Given the description of an element on the screen output the (x, y) to click on. 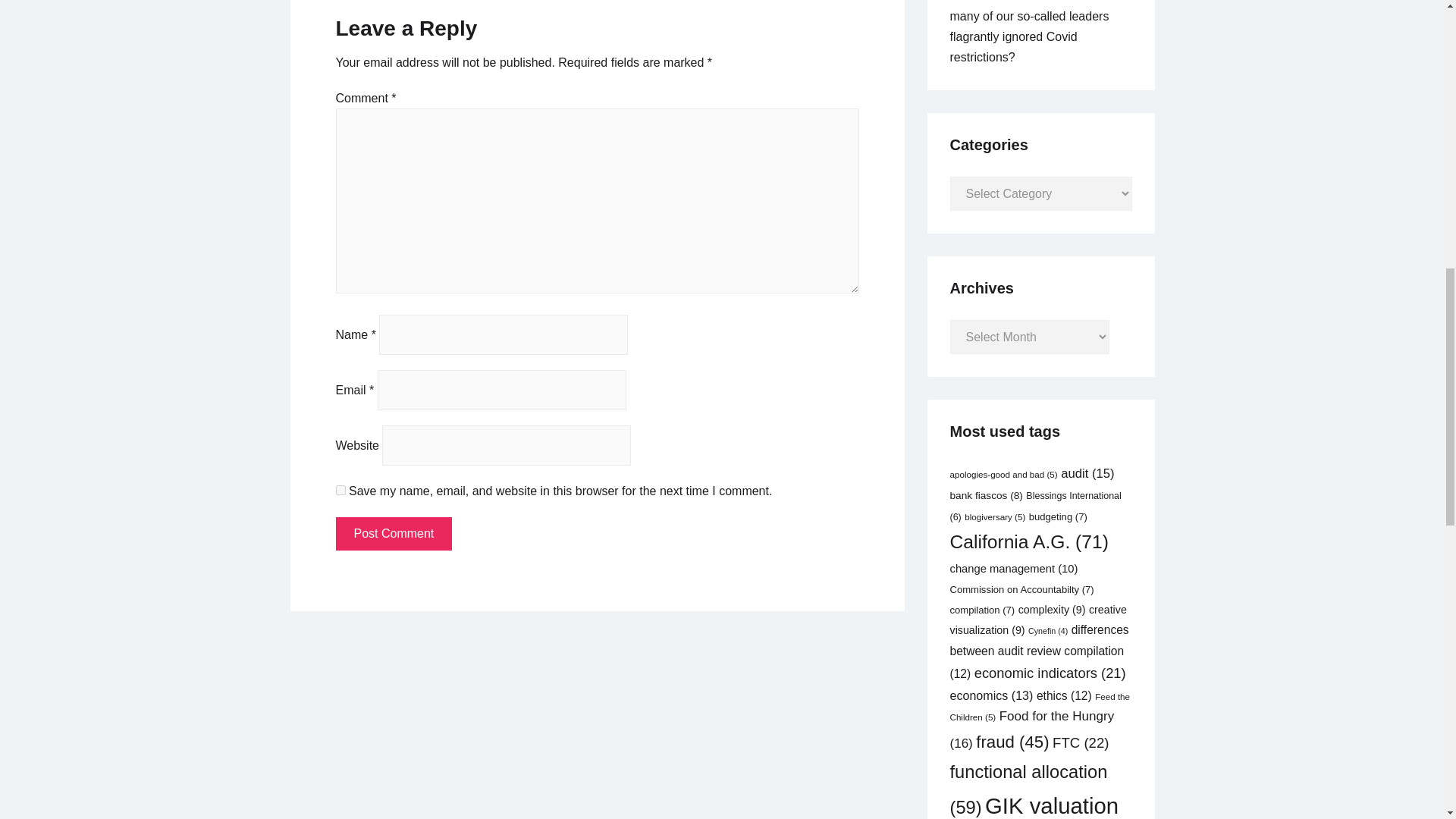
Post Comment (392, 533)
Post Comment (392, 533)
yes (339, 490)
